Given the description of an element on the screen output the (x, y) to click on. 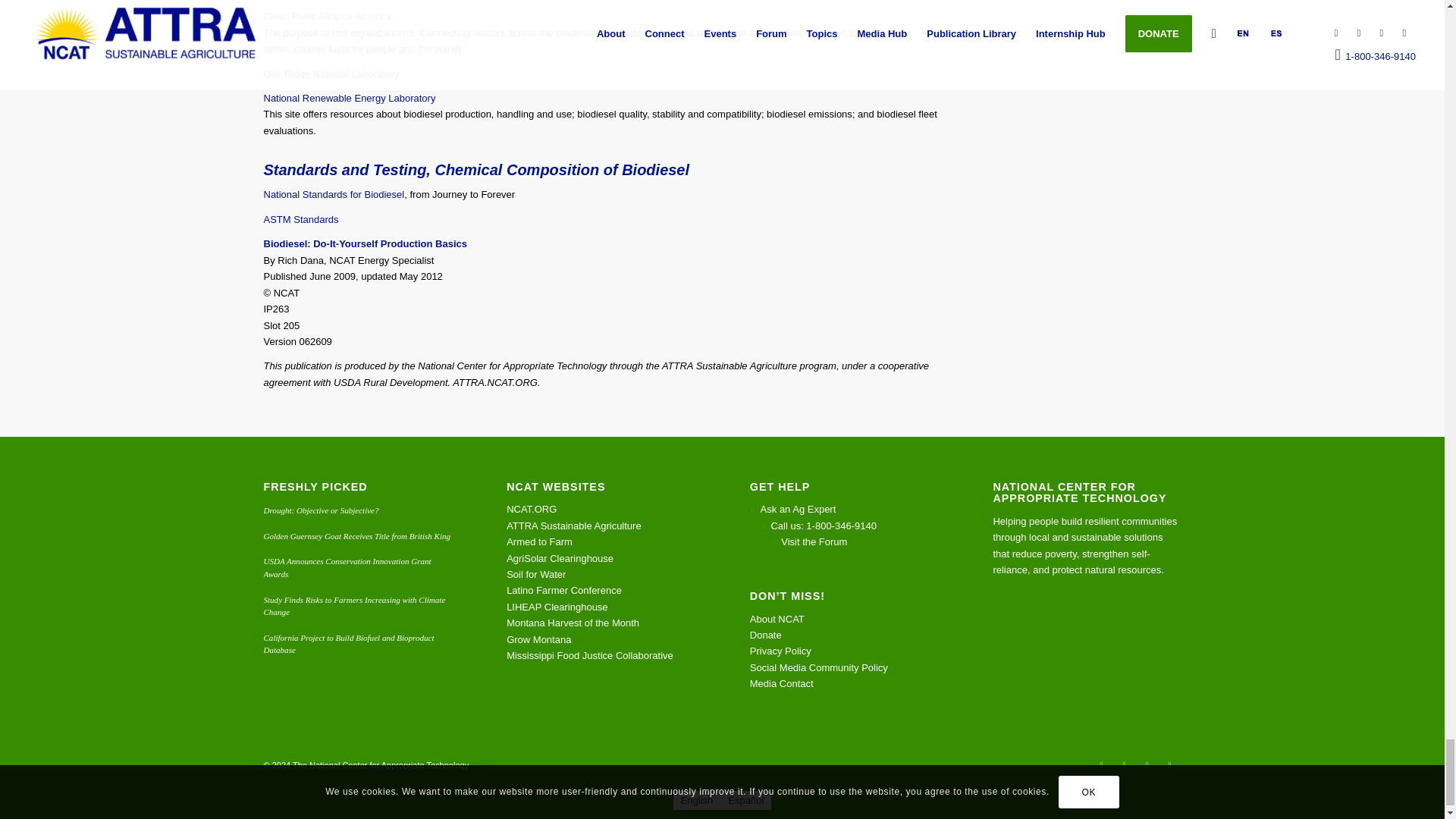
LinkedIn (1169, 764)
Instagram (1124, 764)
Facebook (1146, 764)
Youtube (1101, 764)
